Given the description of an element on the screen output the (x, y) to click on. 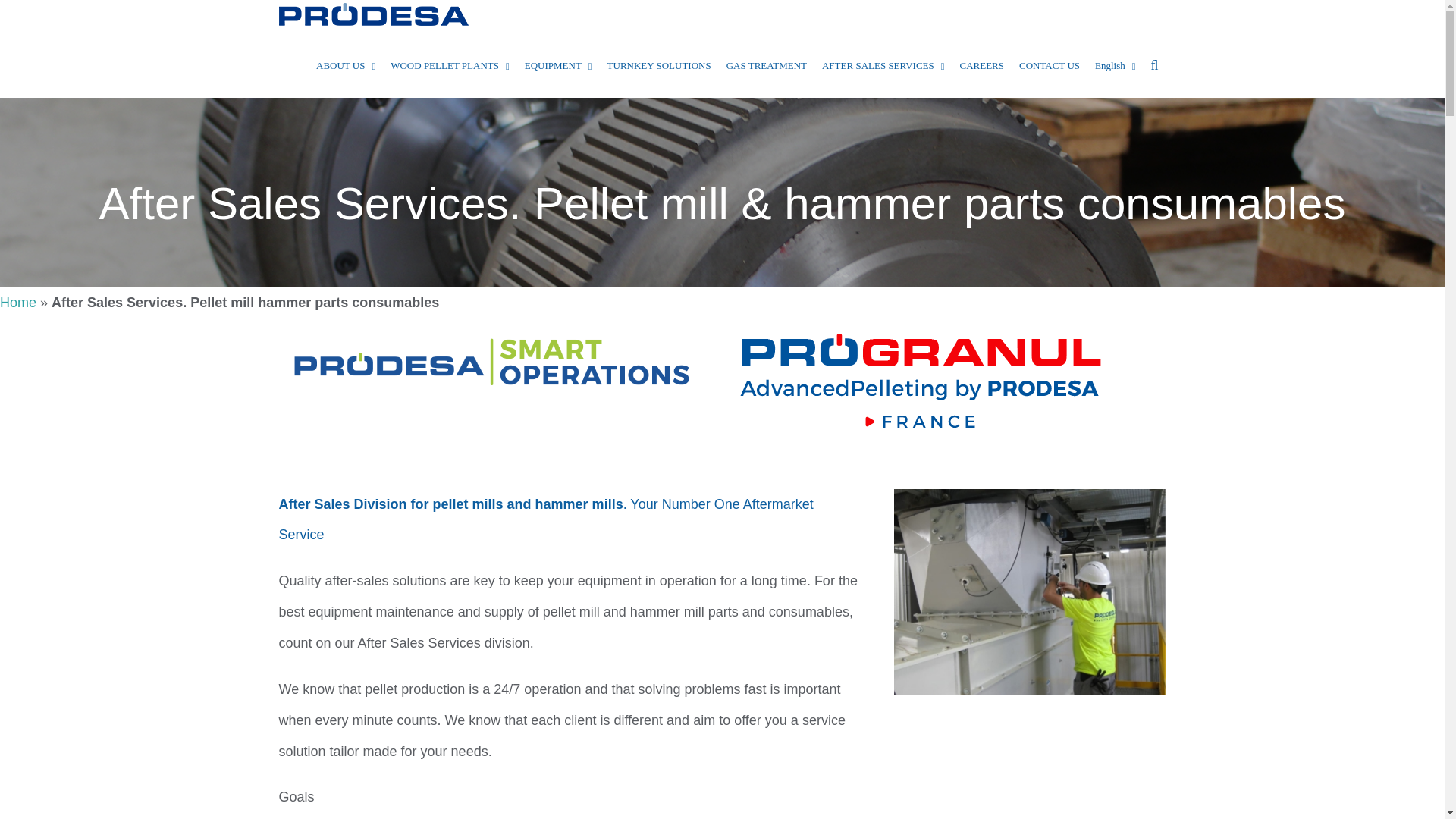
ABOUT US (345, 65)
after-sales-1 (1029, 592)
GAS TREATMENT (766, 65)
Logo Smart Operations (491, 361)
WOOD PELLET PLANTS (449, 65)
CAREERS (981, 65)
AFTER SALES SERVICES (882, 65)
CONTACT US (1049, 65)
TURNKEY SOLUTIONS (659, 65)
EQUIPMENT (557, 65)
